Given the description of an element on the screen output the (x, y) to click on. 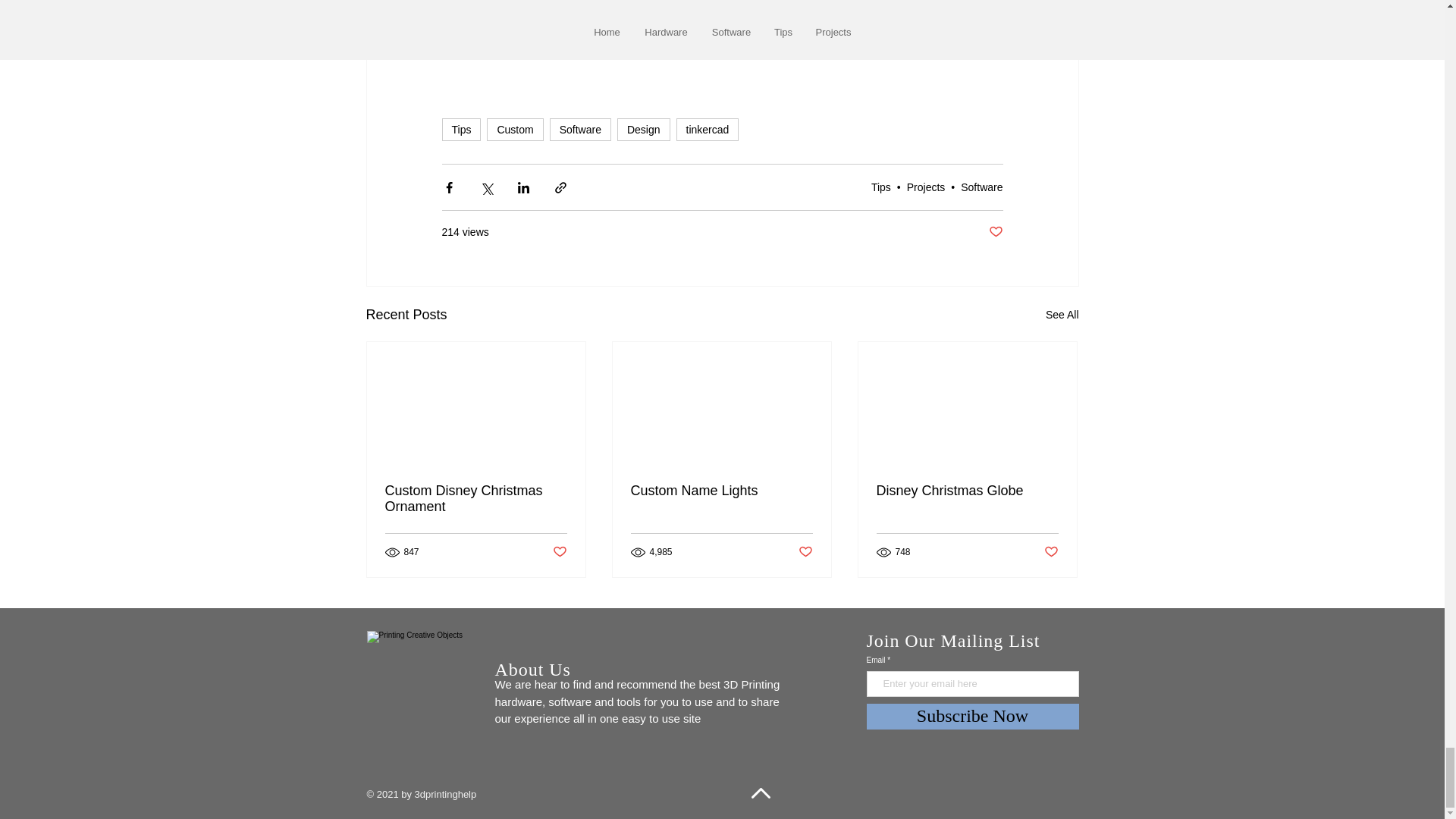
Post not marked as liked (995, 232)
Post not marked as liked (558, 552)
Tips (460, 128)
Projects (925, 186)
Tips (880, 186)
Post not marked as liked (1050, 552)
Disney Christmas Globe (967, 490)
Custom (514, 128)
Design (643, 128)
Software (981, 186)
See All (1061, 314)
Post not marked as liked (804, 552)
Custom Disney Christmas Ornament (476, 499)
Subscribe Now (972, 716)
Custom Name Lights (721, 490)
